Given the description of an element on the screen output the (x, y) to click on. 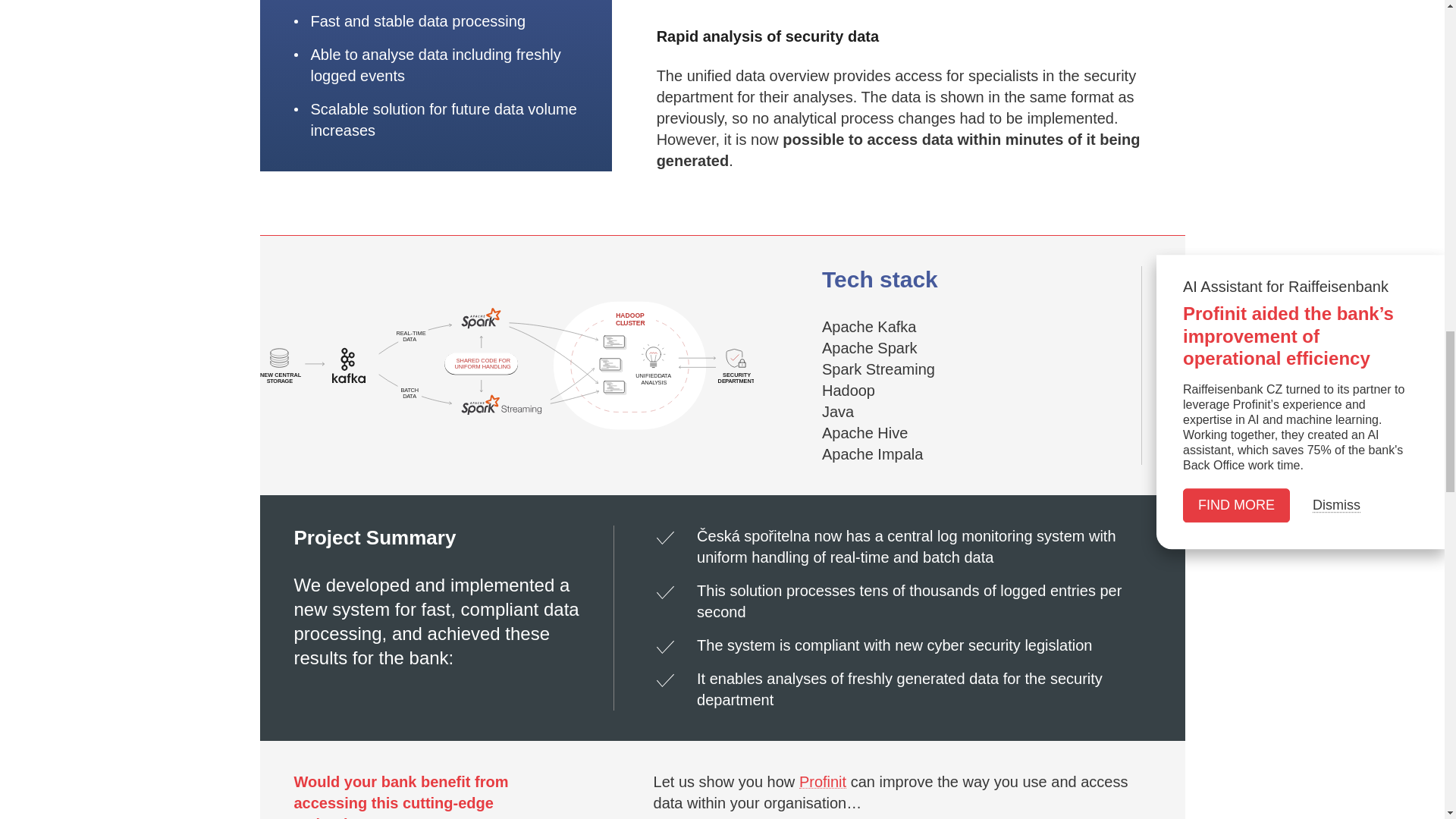
Profinit (822, 781)
